Given the description of an element on the screen output the (x, y) to click on. 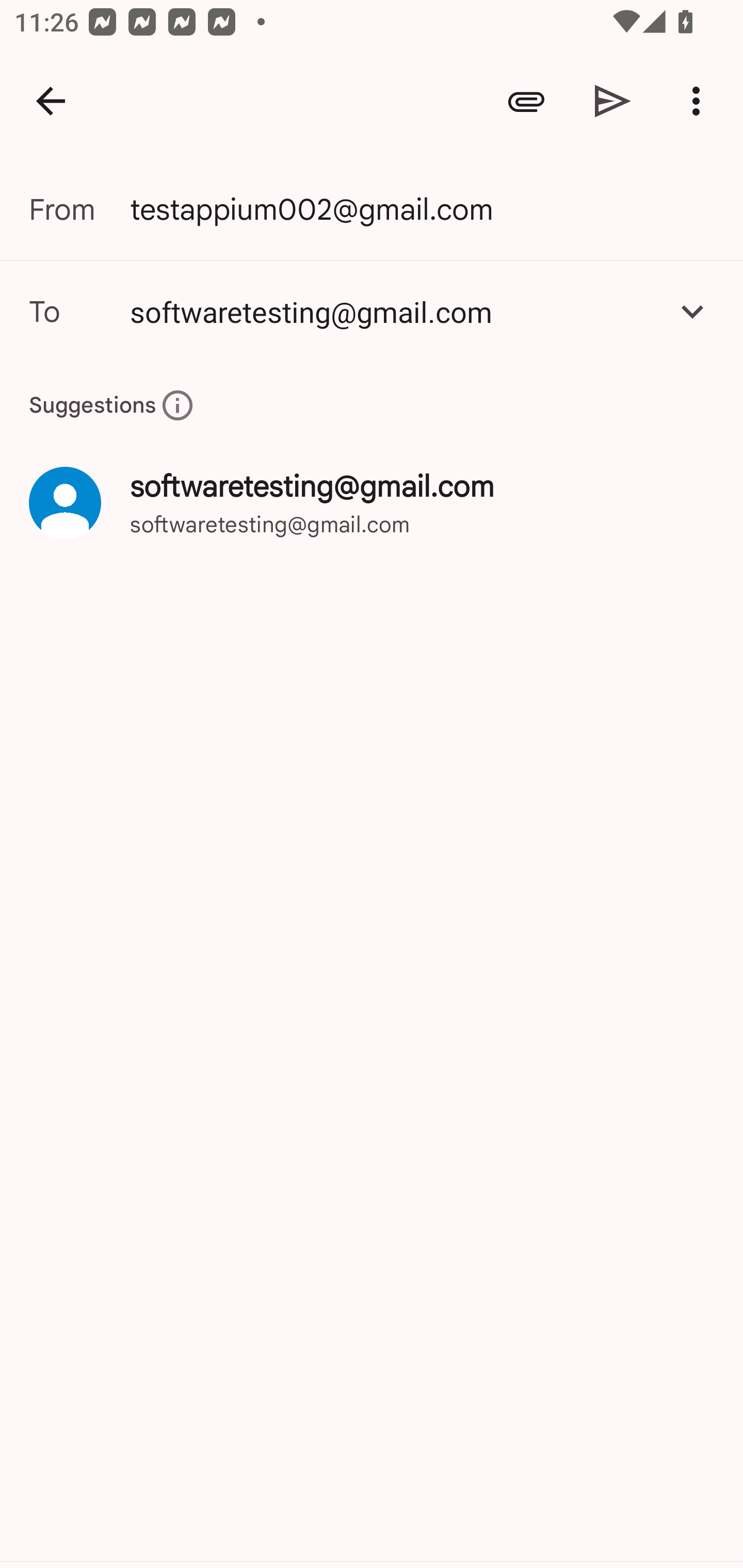
Navigate up (50, 101)
Attach file (525, 101)
Send (612, 101)
More options (699, 101)
From (79, 209)
Add Cc/Bcc (692, 311)
softwaretesting@gmail.com (371, 311)
softwaretesting@gmail.com (393, 311)
